Given the description of an element on the screen output the (x, y) to click on. 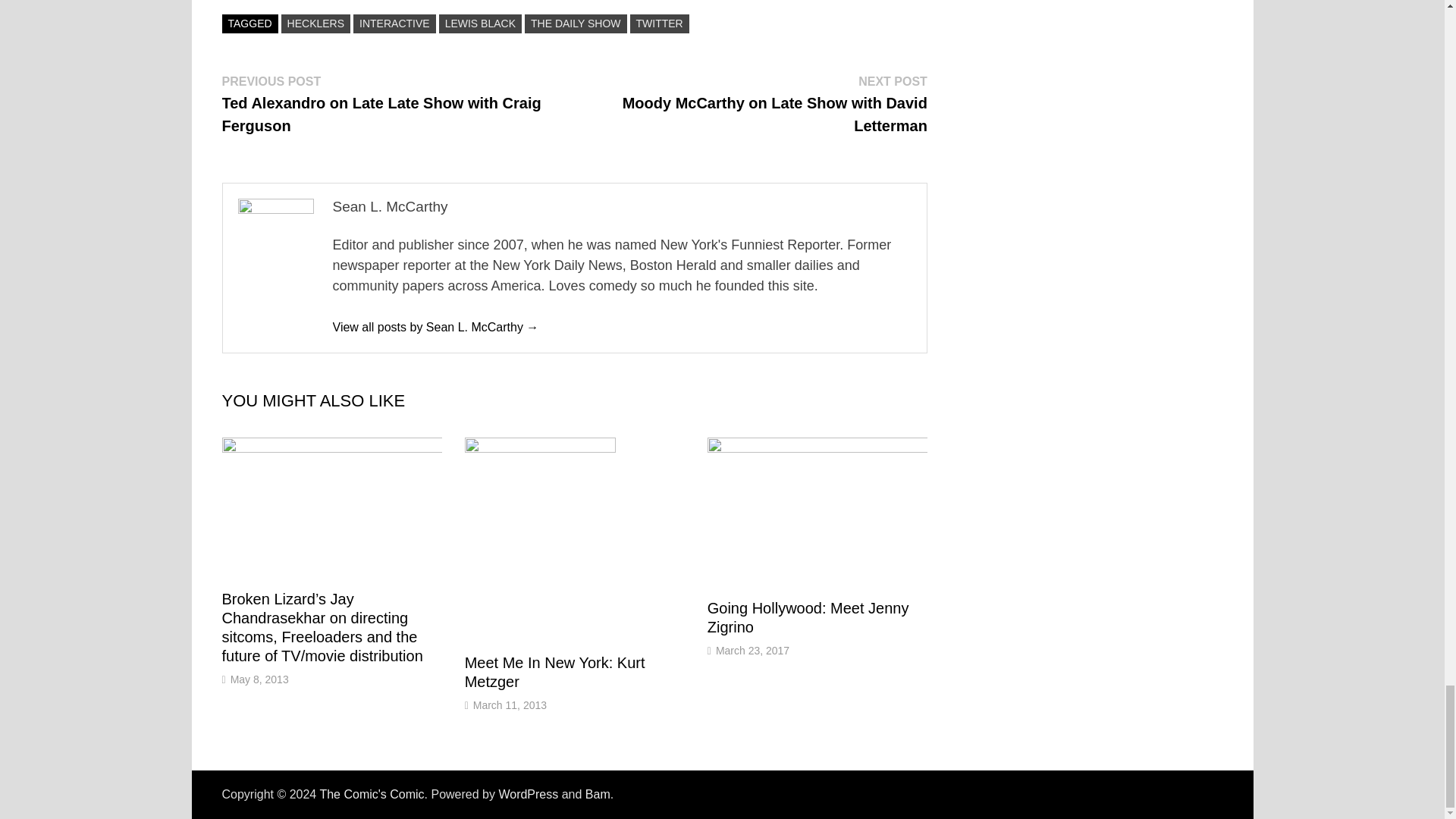
The Comic's Comic (370, 793)
Sean L. McCarthy (434, 327)
LEWIS BLACK (480, 23)
Going Hollywood: Meet Jenny Zigrino (807, 617)
HECKLERS (315, 23)
INTERACTIVE (394, 23)
THE DAILY SHOW (575, 23)
TWITTER (659, 23)
Meet Me In New York: Kurt Metzger (554, 672)
